Given the description of an element on the screen output the (x, y) to click on. 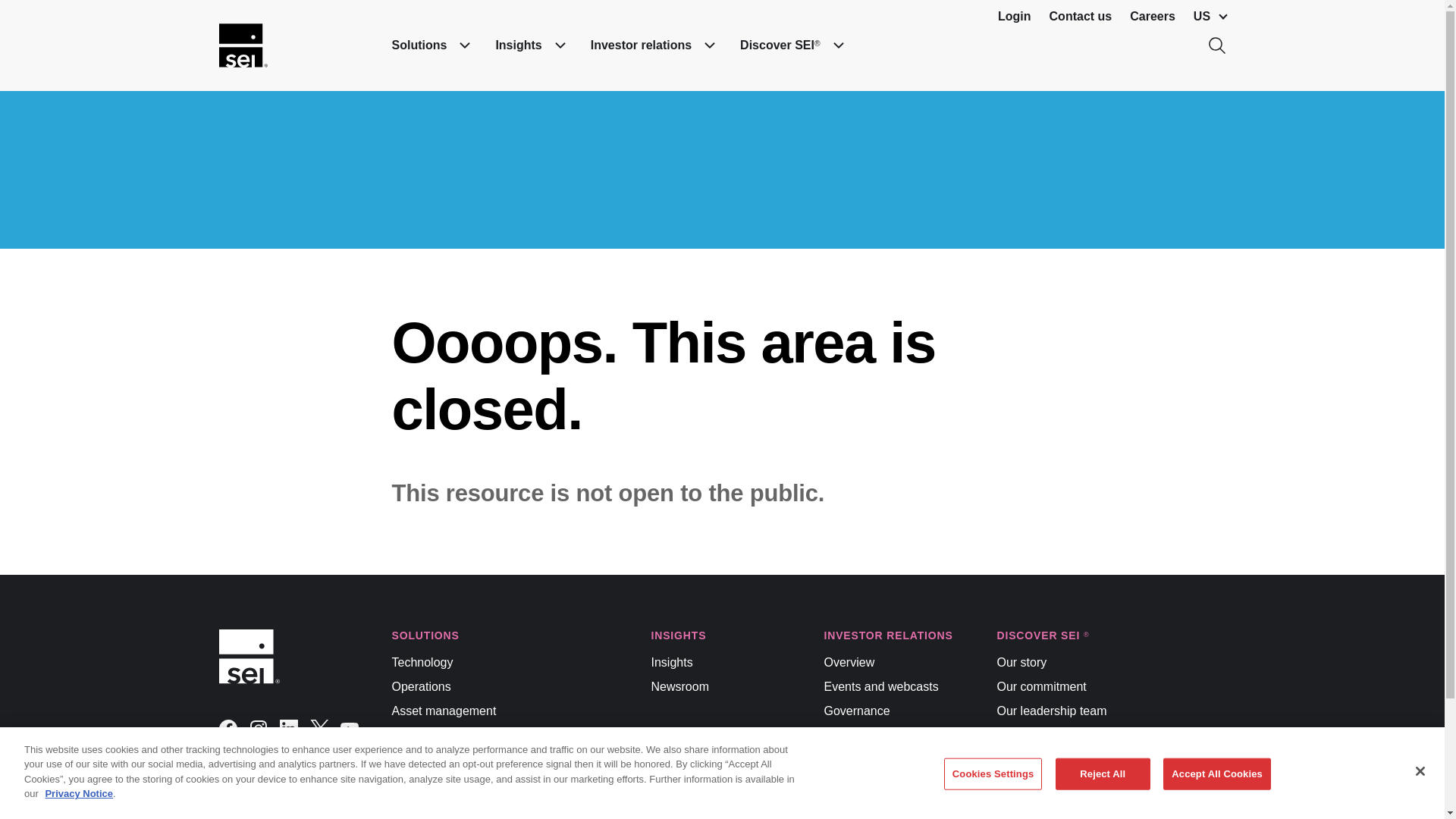
Investor relations (656, 45)
Solutions (434, 45)
Insights (533, 45)
